Given the description of an element on the screen output the (x, y) to click on. 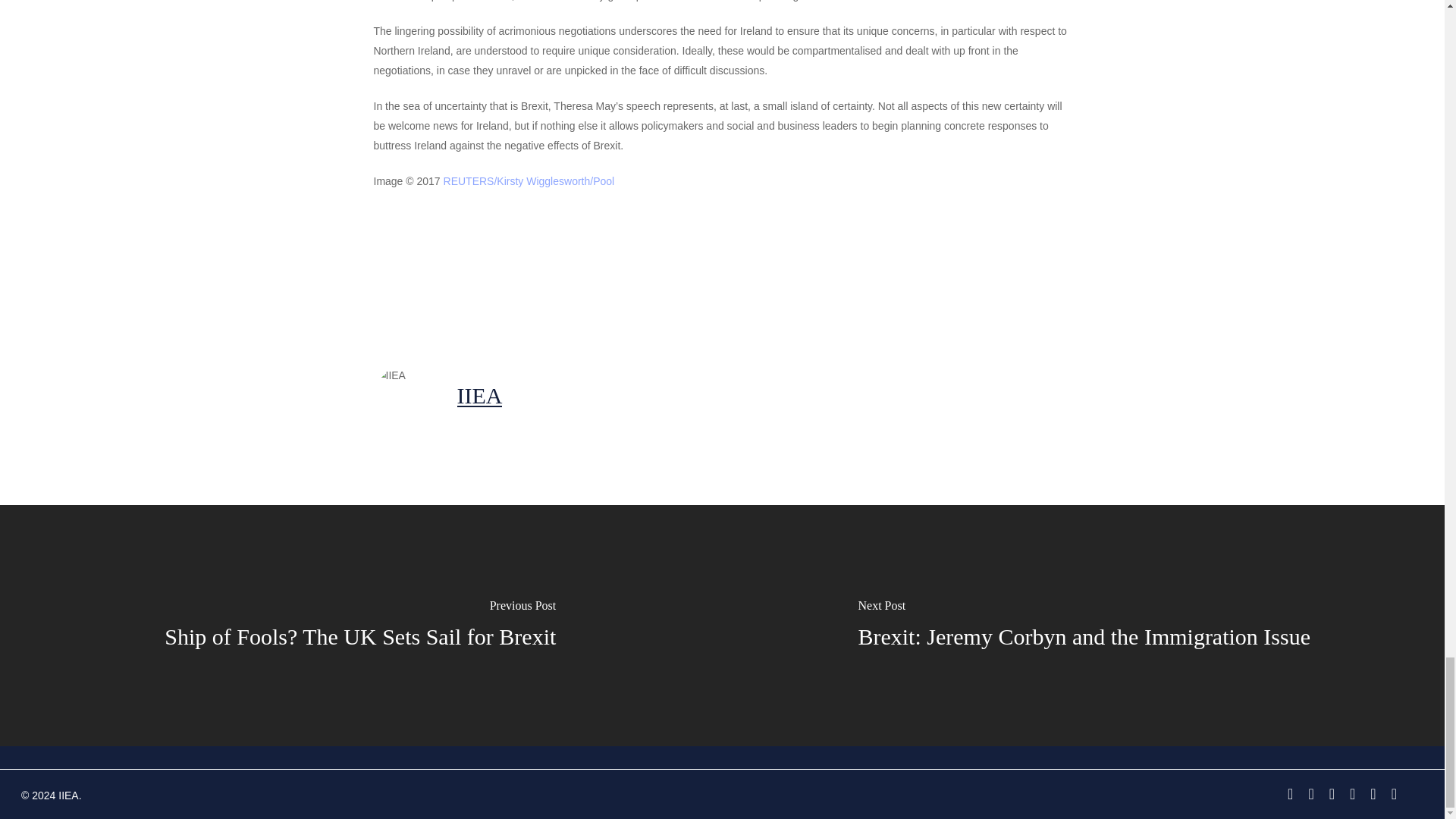
Share (604, 274)
Tweet (510, 274)
Share (414, 274)
Pin (692, 274)
Share this (414, 274)
Pin this (692, 274)
Share this (604, 274)
IIEA (479, 395)
Tweet this (510, 274)
